Given the description of an element on the screen output the (x, y) to click on. 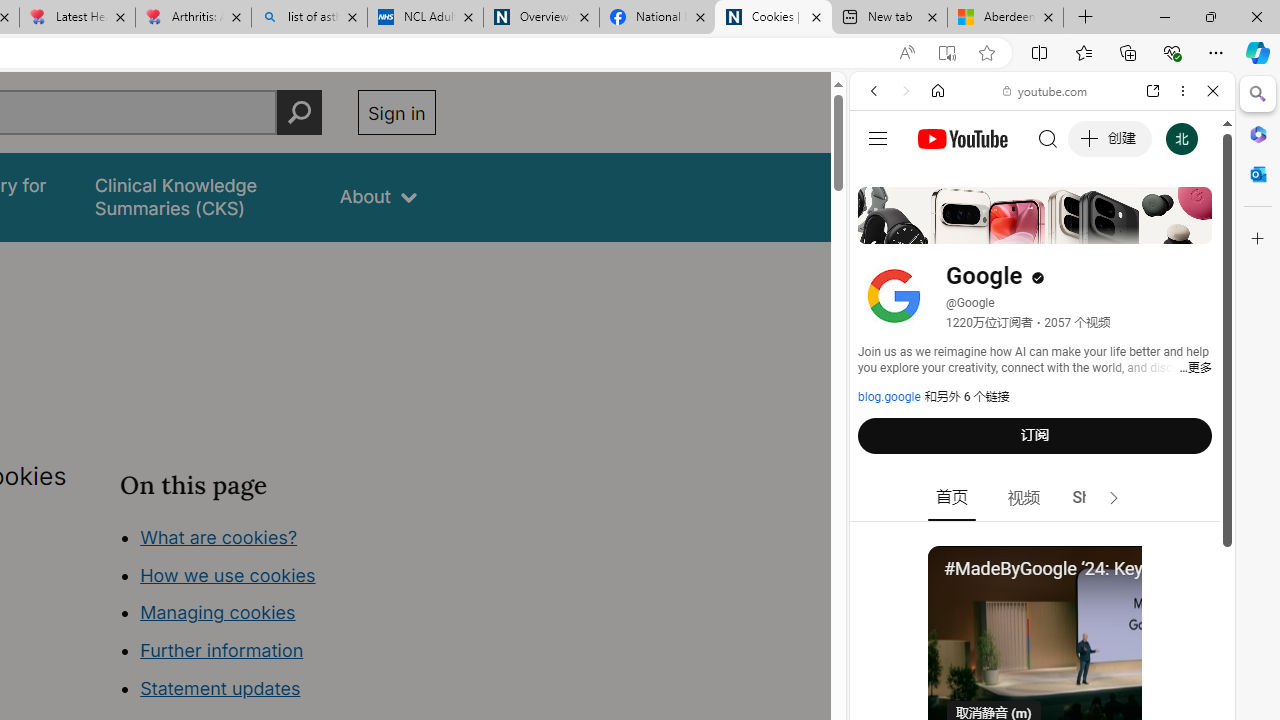
Close Customize pane (1258, 239)
This site scope (936, 180)
Preferences (1189, 228)
New tab (889, 17)
About (378, 196)
IMAGES (939, 228)
blog.google (889, 397)
Home (938, 91)
Aberdeen, Hong Kong SAR hourly forecast | Microsoft Weather (1005, 17)
Further information (221, 650)
Music (1042, 543)
More options (1182, 91)
Search videos from youtube.com (1005, 657)
